Given the description of an element on the screen output the (x, y) to click on. 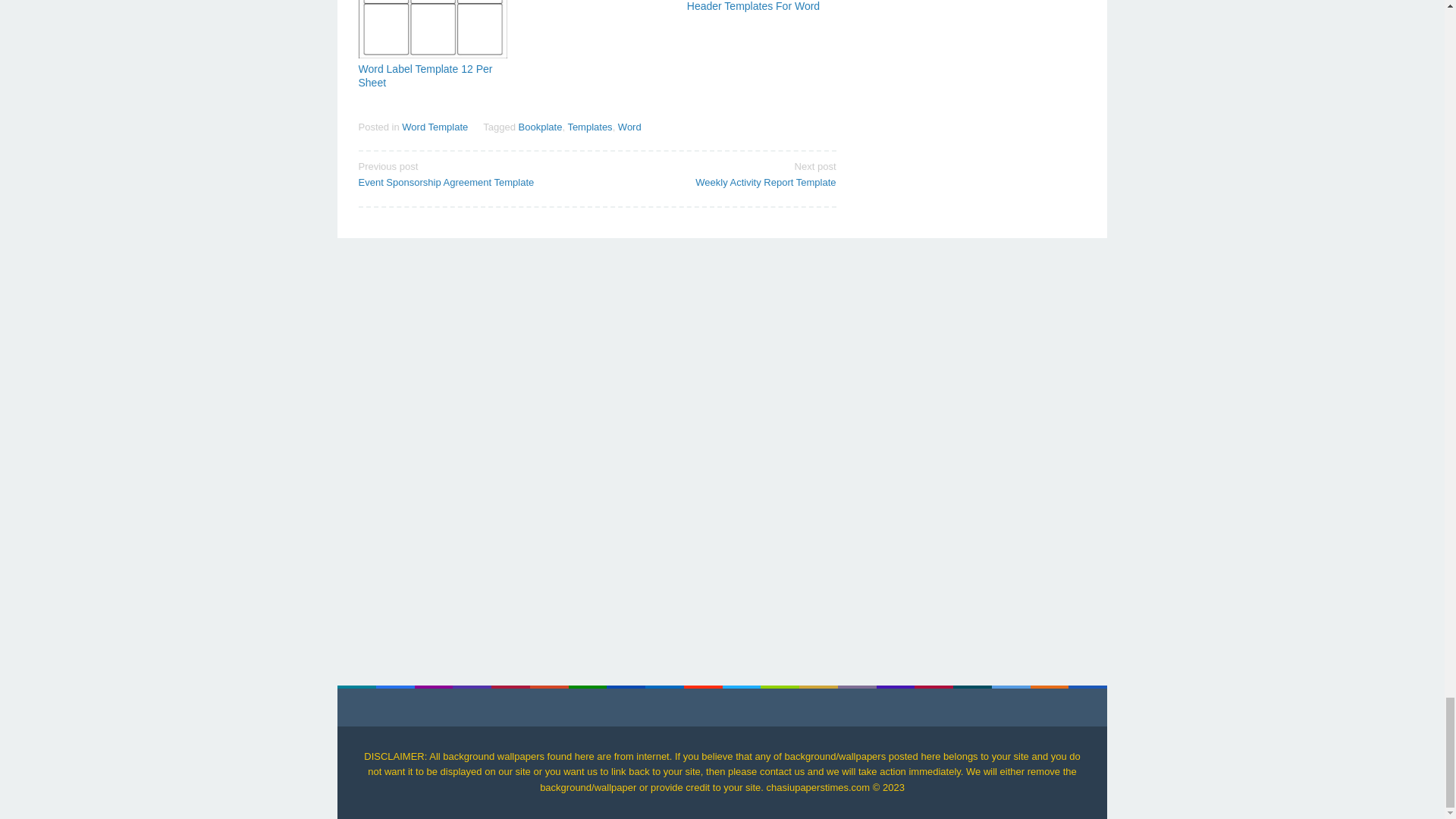
Word Template (721, 173)
Bookplate (434, 126)
Permalink to: Word Label Template 12 Per Sheet (540, 126)
Permalink to: Word Label Template 12 Per Sheet (472, 173)
Word Label Template 12 Per Sheet (432, 29)
Templates (425, 75)
Header Templates For Word (425, 75)
Word (589, 126)
